Given the description of an element on the screen output the (x, y) to click on. 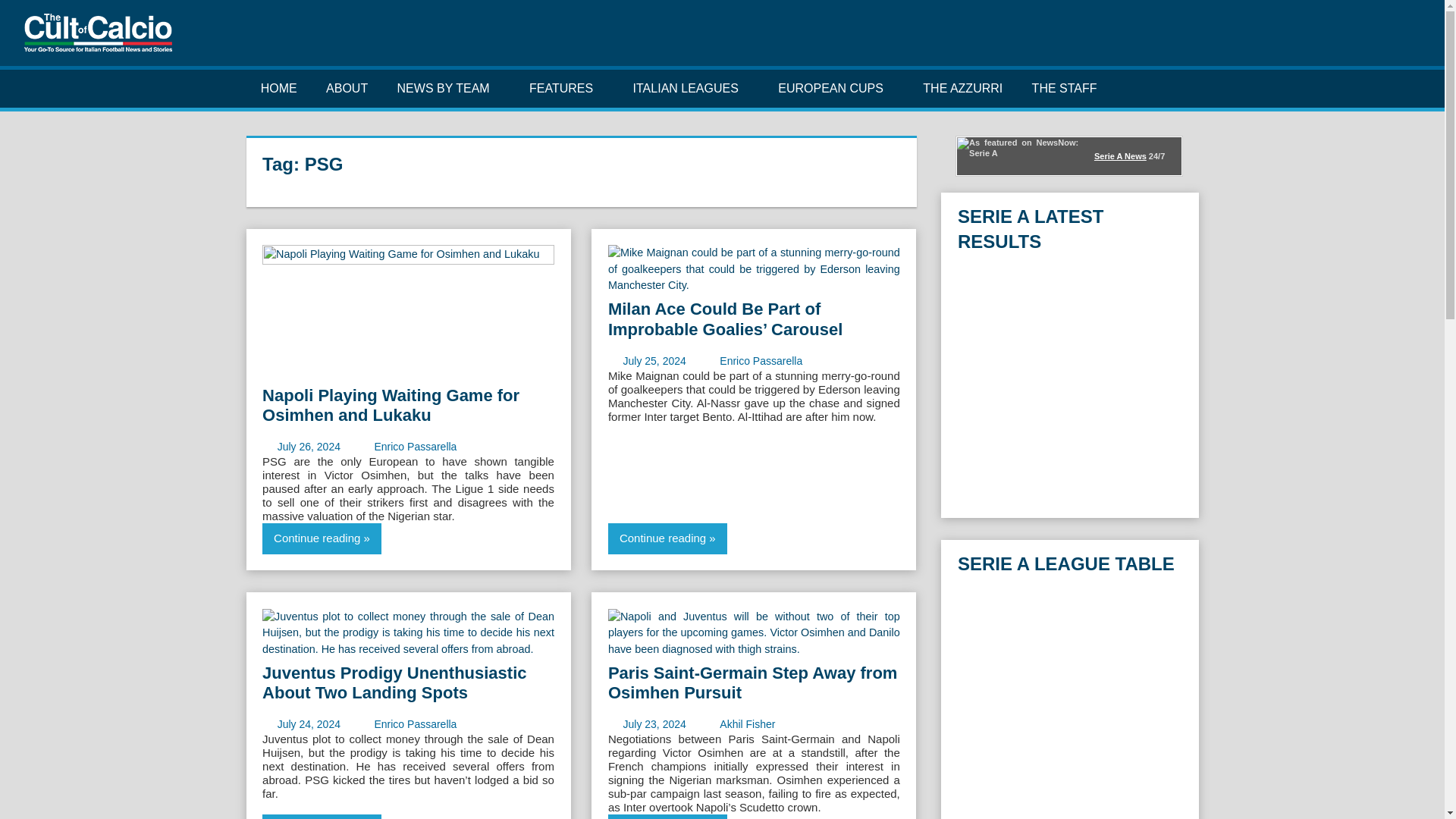
Search (1189, 88)
View all posts by Enrico Passarella (415, 724)
Instagram (1363, 39)
Facebook (1315, 39)
8:00 pm (654, 360)
View all posts by Akhil Fisher (746, 724)
YouTube (1386, 39)
Twitter (1339, 39)
FEATURES (566, 88)
7:00 am (654, 724)
RSS Feed (1409, 39)
Napoli Playing Waiting Game for Osimhen and Lukaku (408, 341)
View all posts by Enrico Passarella (760, 360)
View all posts by Enrico Passarella (415, 446)
ABOUT (346, 88)
